Given the description of an element on the screen output the (x, y) to click on. 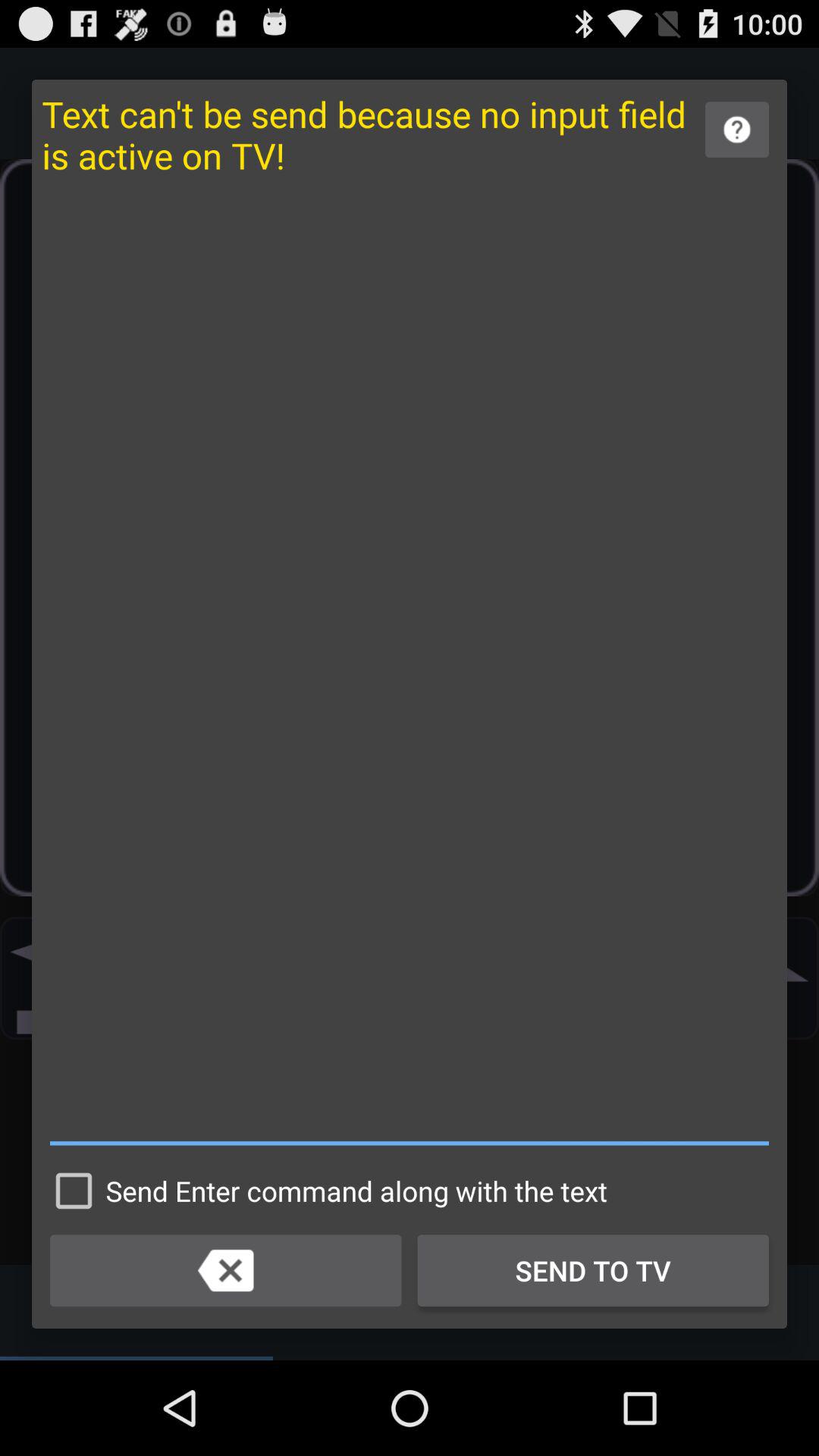
press the item at the top right corner (736, 129)
